Given the description of an element on the screen output the (x, y) to click on. 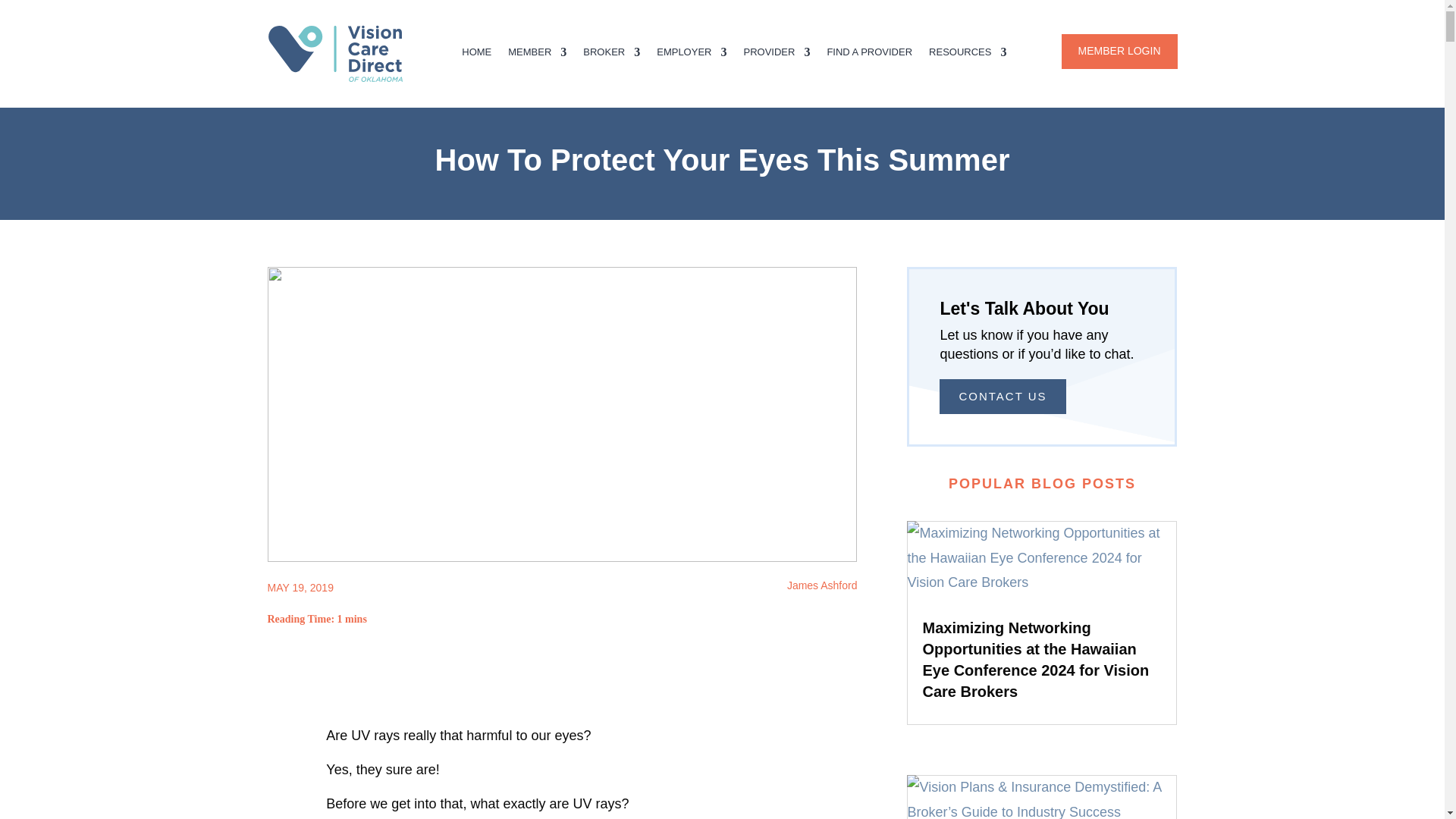
FIND A PROVIDER (869, 55)
PROVIDER (775, 55)
EMPLOYER (691, 55)
HOME (476, 55)
VCD-OK-HorLogo-Web (344, 53)
MEMBER (537, 55)
BROKER (611, 55)
RESOURCES (967, 55)
